Given the description of an element on the screen output the (x, y) to click on. 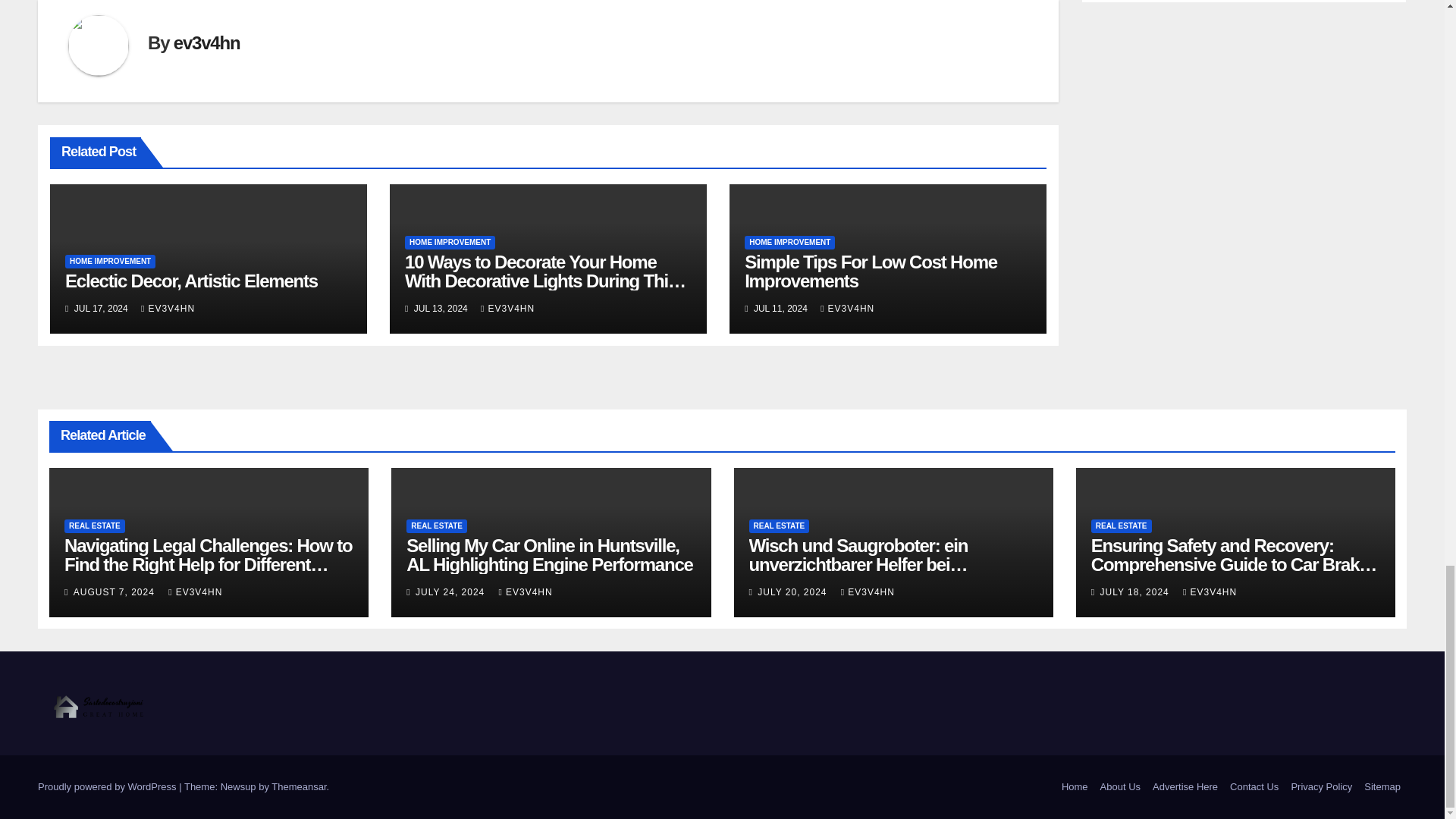
Permalink to: Eclectic Decor, Artistic Elements (191, 281)
Permalink to: Simple Tips For Low Cost Home Improvements (870, 271)
